Given the description of an element on the screen output the (x, y) to click on. 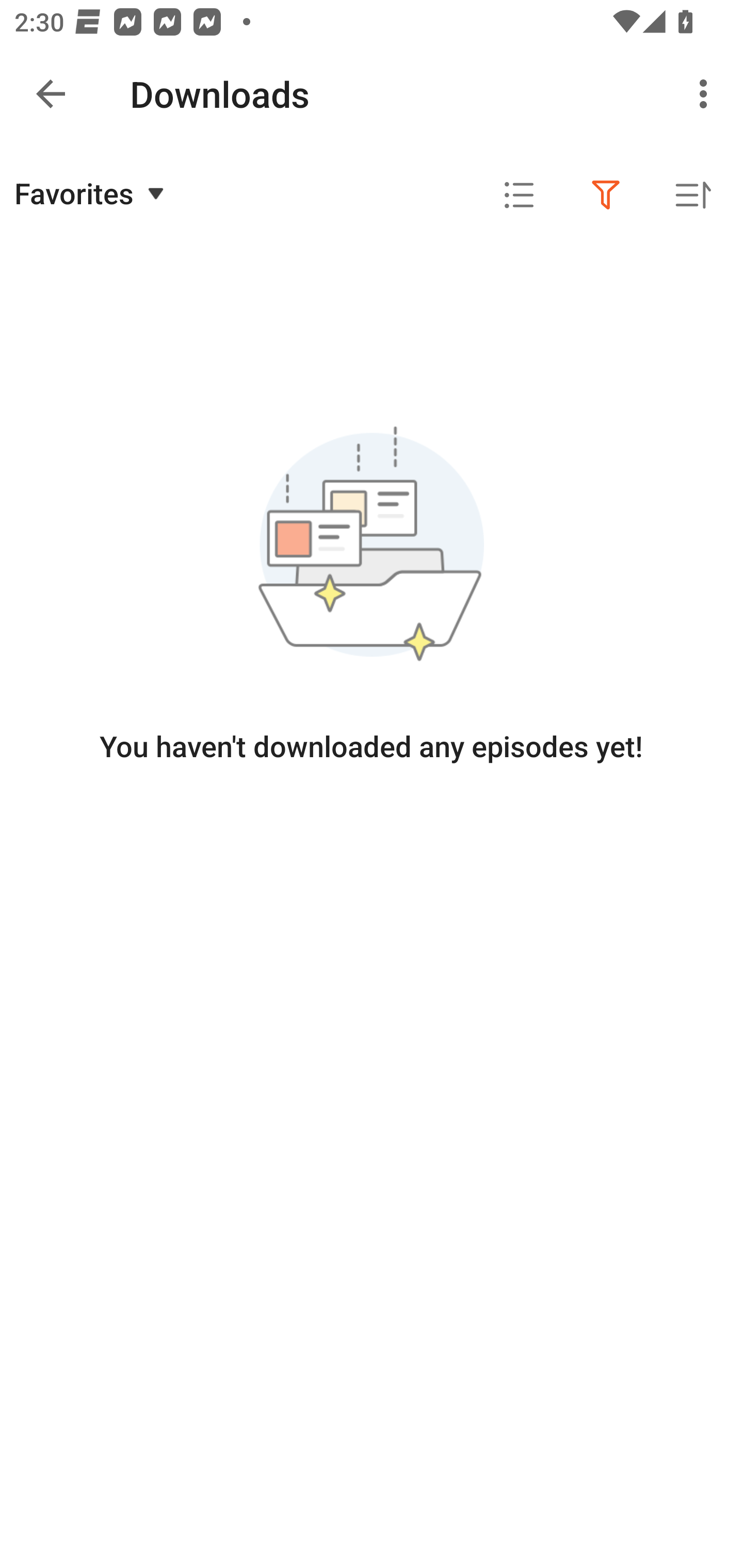
Navigate up (50, 93)
More options (706, 93)
Favorites (92, 192)
 (518, 195)
 (605, 195)
 Sorted by oldest first (692, 195)
